Given the description of an element on the screen output the (x, y) to click on. 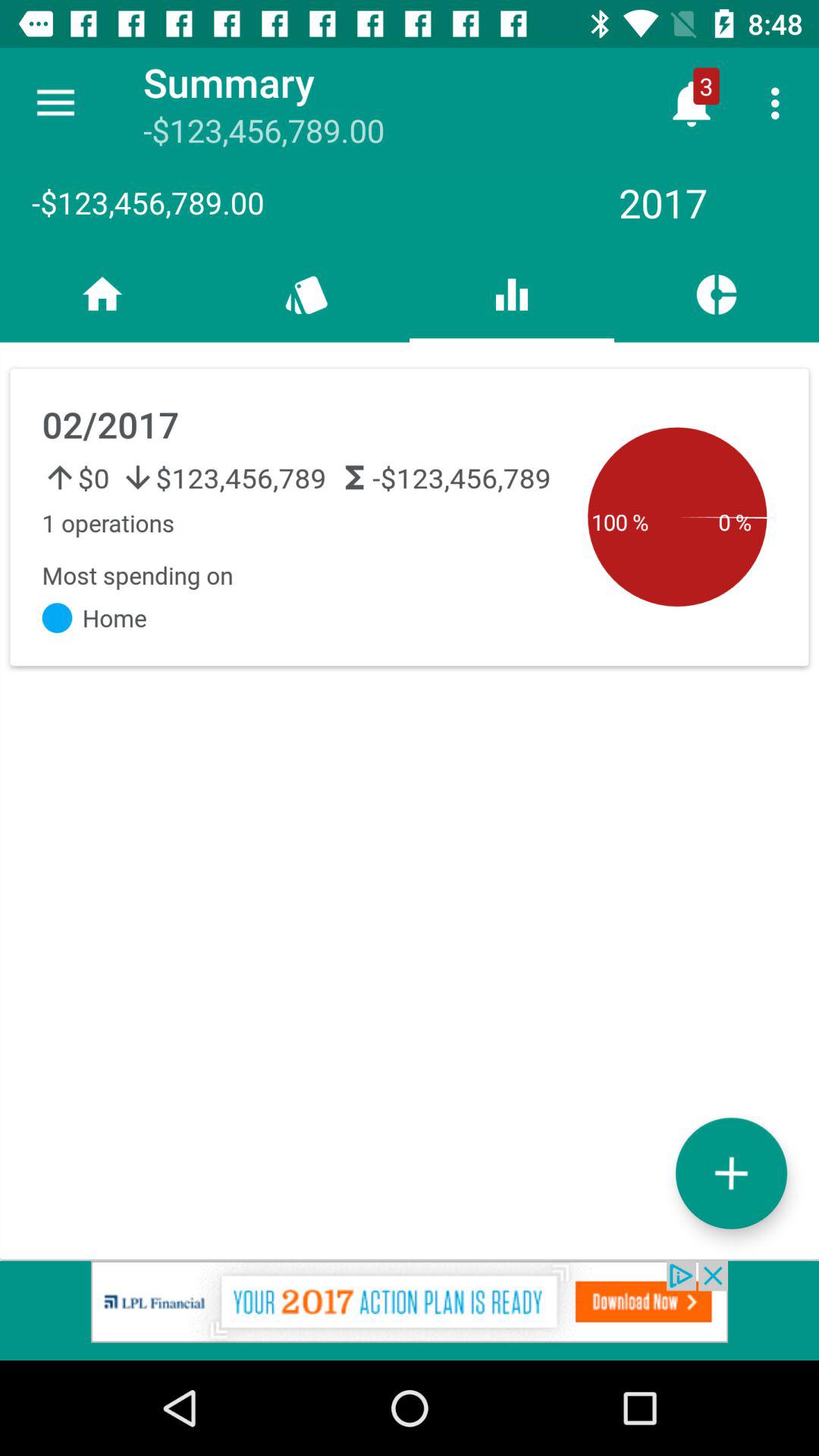
close the add (409, 1310)
